Given the description of an element on the screen output the (x, y) to click on. 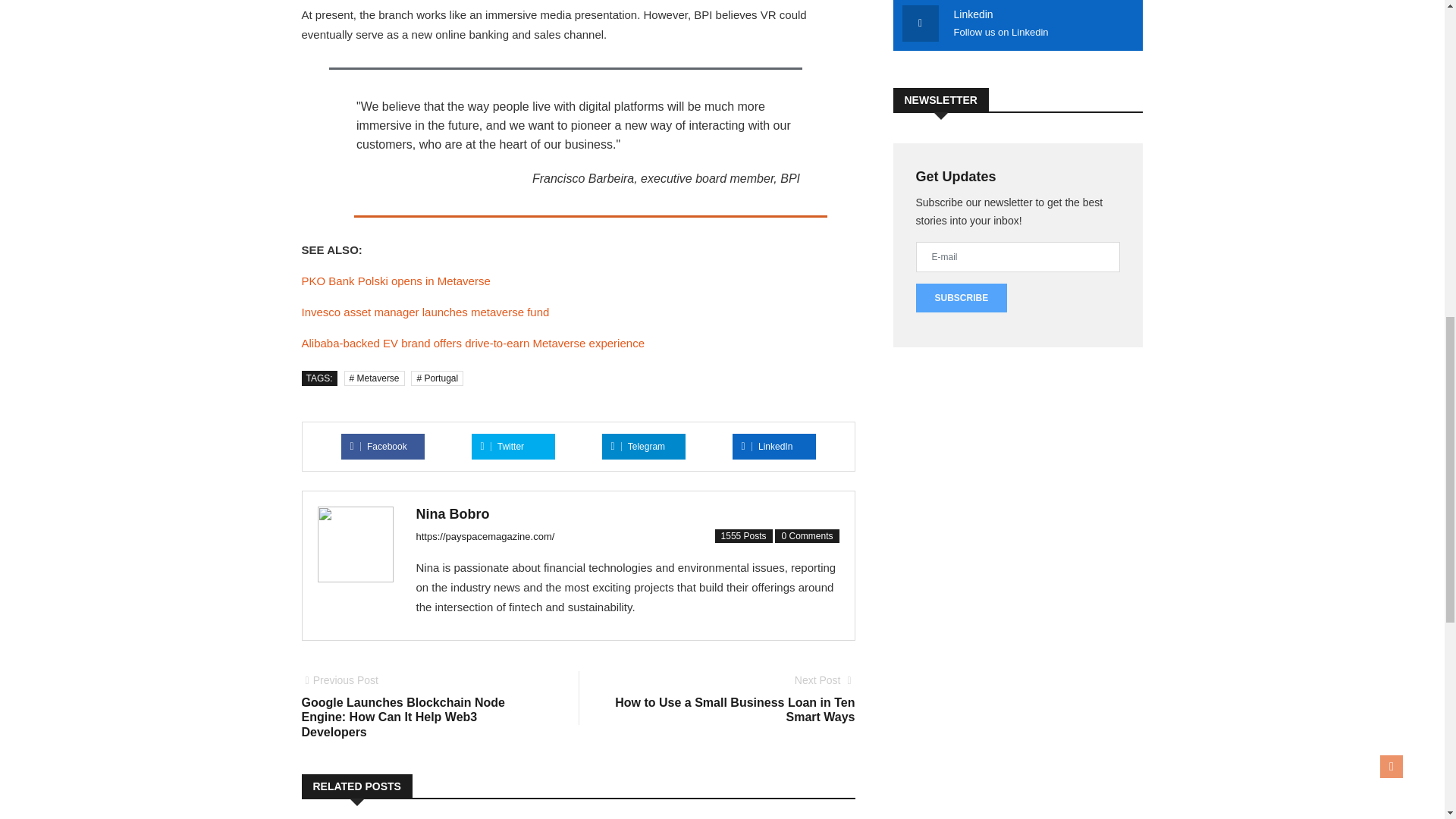
Telegram (733, 698)
PKO Bank Polski opens in Metaverse (638, 446)
Invesco asset manager launches metaverse fund (395, 280)
Facebook (425, 311)
LinkedIn (378, 446)
Twitter (767, 446)
